Given the description of an element on the screen output the (x, y) to click on. 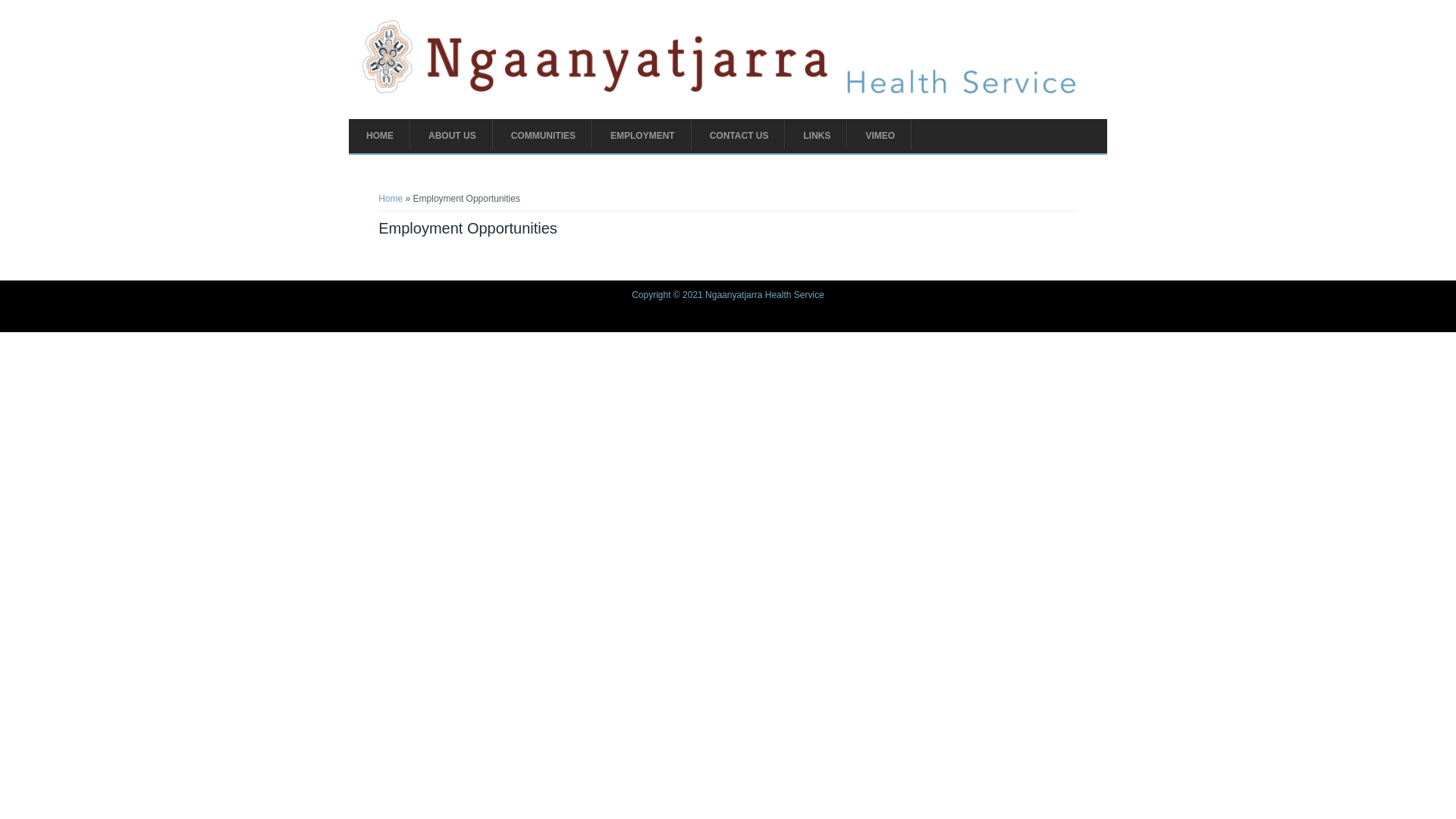
LINKS Element type: text (816, 136)
Home Element type: hover (725, 91)
VIMEO Element type: text (879, 136)
EMPLOYMENT Element type: text (642, 136)
HOME Element type: text (379, 136)
CONTACT US Element type: text (739, 136)
Zymphonies Element type: text (1082, 316)
Home Element type: text (390, 198)
COMMUNITIES Element type: text (543, 136)
ABOUT US Element type: text (452, 136)
